Given the description of an element on the screen output the (x, y) to click on. 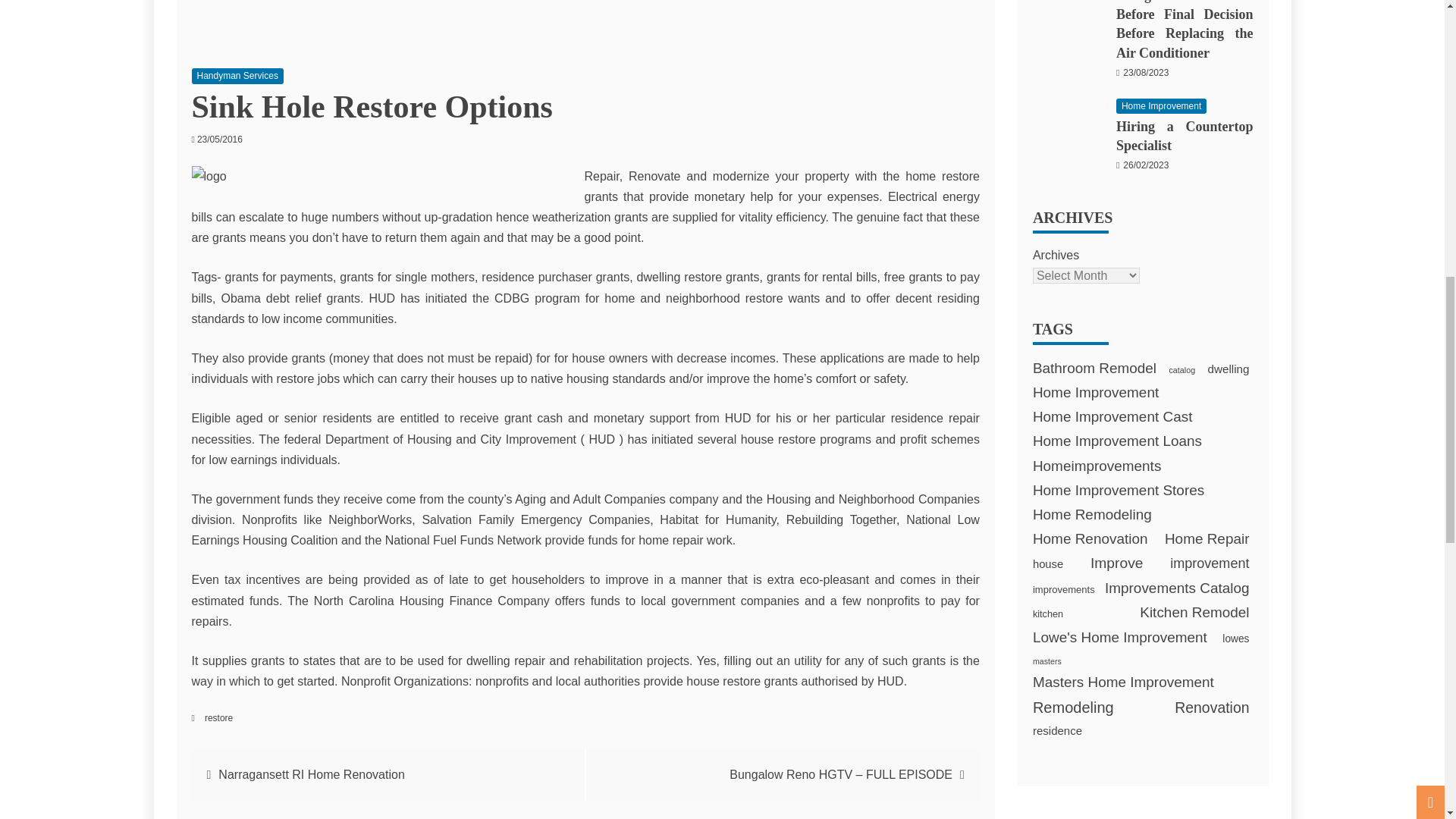
Handyman Services (236, 75)
Narragansett RI Home Renovation (311, 774)
Sink Hole Restore Options (584, 24)
restore (218, 717)
Sink Hole Restore Options (383, 176)
Hiring a Countertop Specialist (1070, 136)
